Given the description of an element on the screen output the (x, y) to click on. 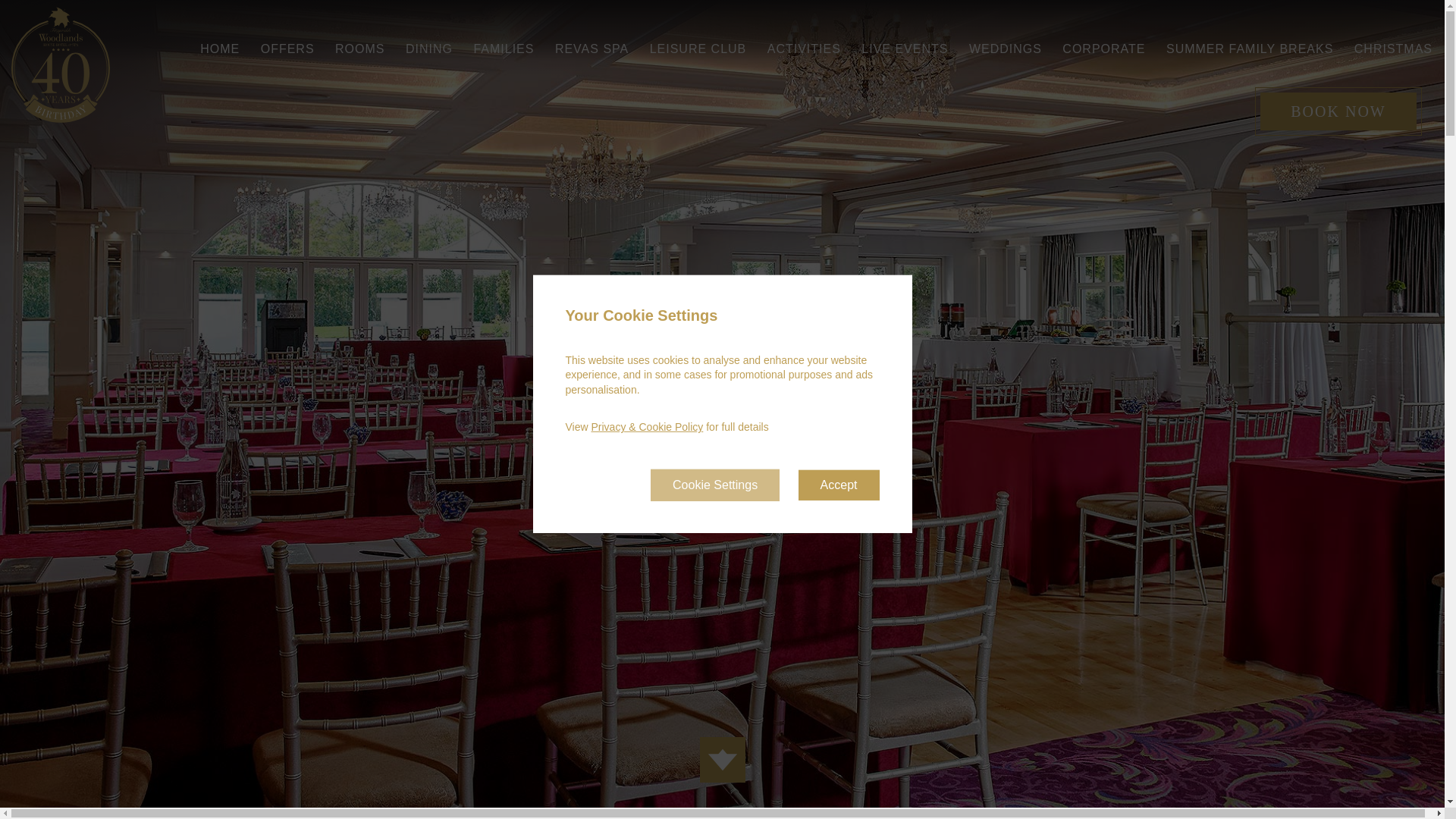
Cookie Settings (714, 485)
Accept (838, 485)
